Given the description of an element on the screen output the (x, y) to click on. 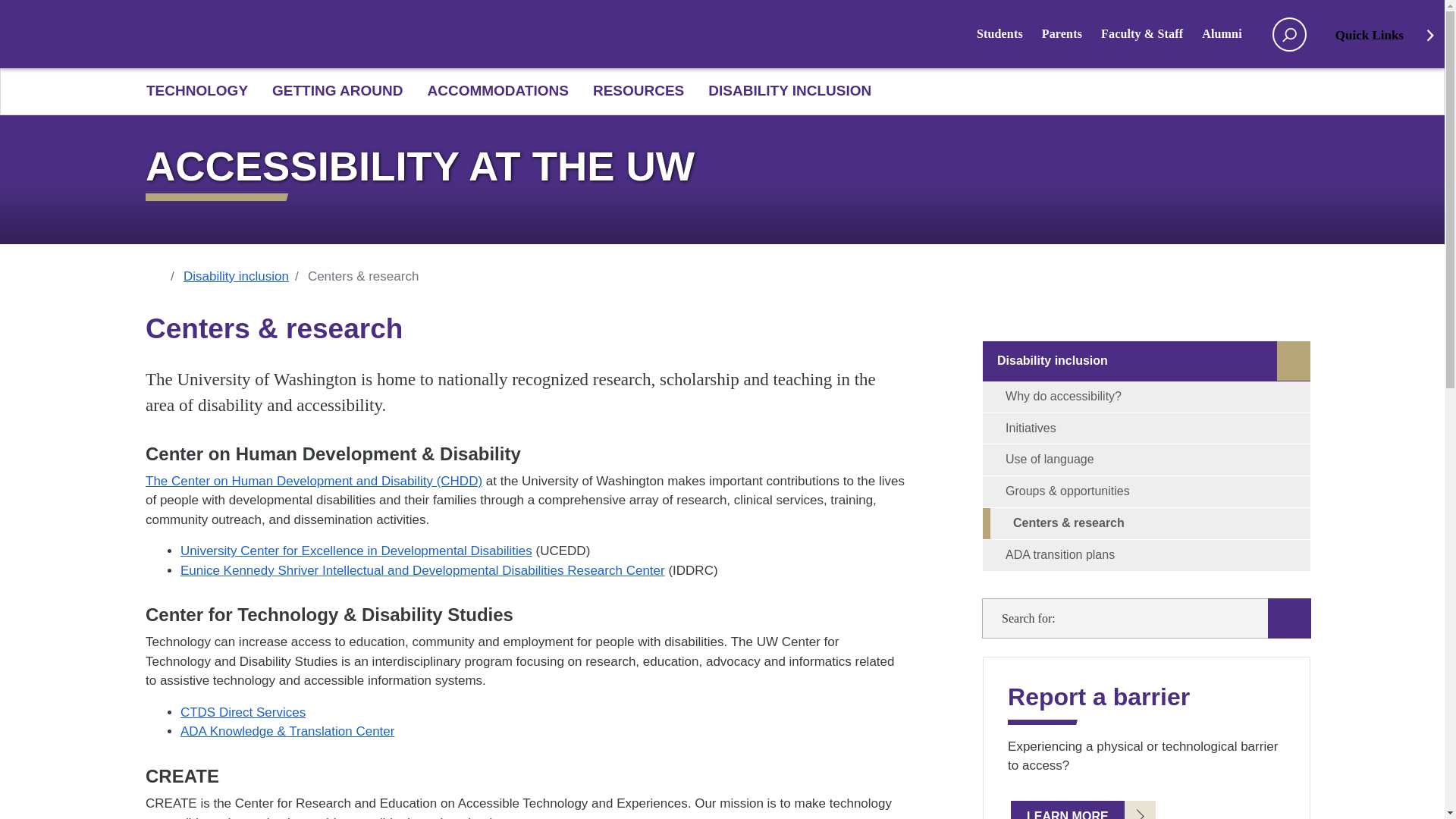
ACCOMMODATIONS (496, 91)
ACCESSIBILITY AT THE UW (721, 165)
Accessibility at the UW (721, 165)
University of Washington (371, 35)
Students (1009, 33)
Alumni (1231, 33)
University of Washington (194, 33)
DISABILITY INCLUSION (782, 91)
Disability inclusion (245, 276)
